Given the description of an element on the screen output the (x, y) to click on. 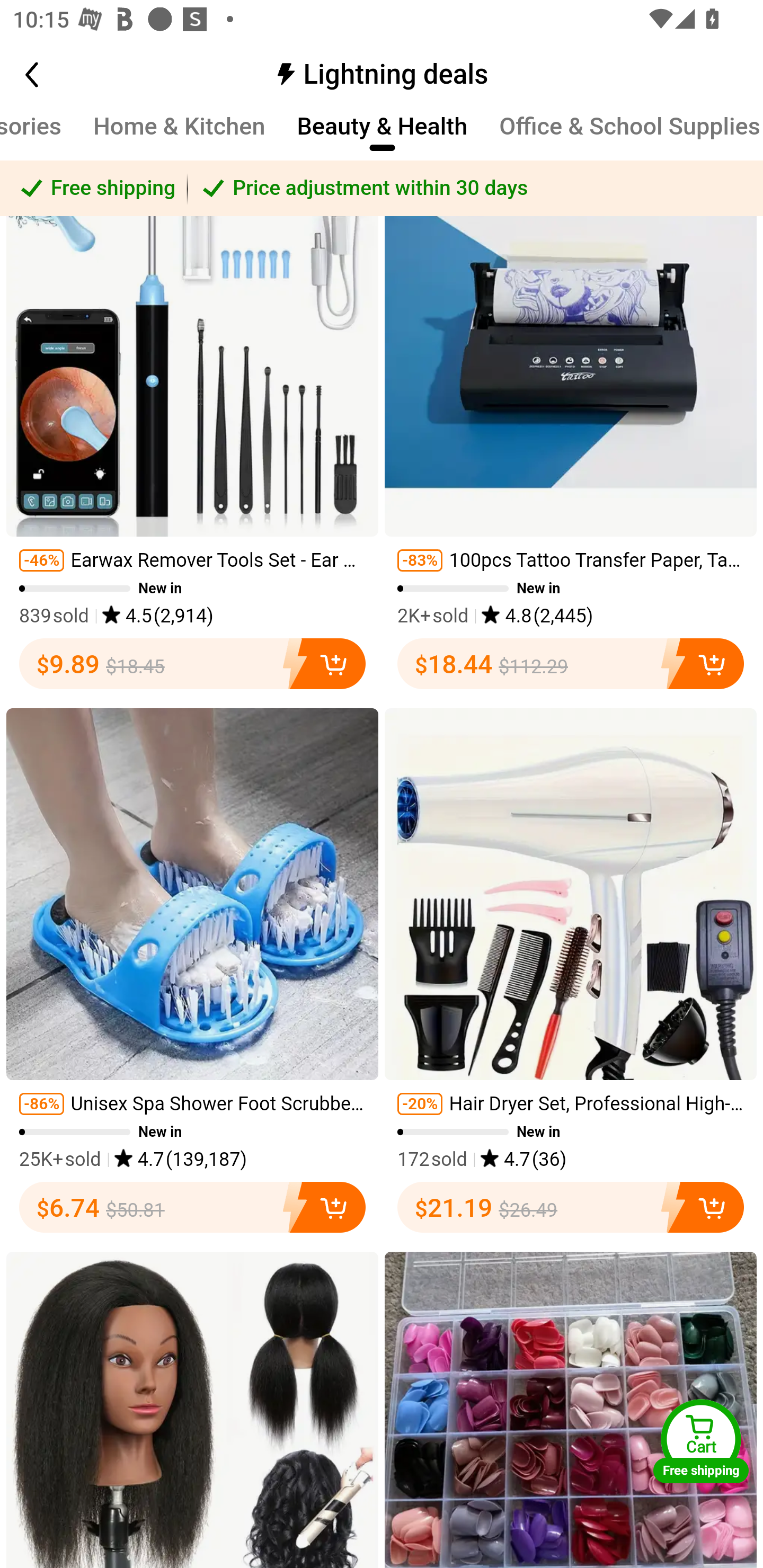
Back (50, 75)
Home & Kitchen (178, 135)
Beauty & Health (382, 135)
Office & School Supplies (630, 135)
Free shipping (94, 188)
Price adjustment within 30 days (475, 188)
$9.89 $18.45 (192, 663)
$18.44 $112.29 (570, 663)
$6.74 $50.81 (192, 1207)
$21.19 $26.49 (570, 1207)
Cart Free shipping Cart (701, 1440)
